Given the description of an element on the screen output the (x, y) to click on. 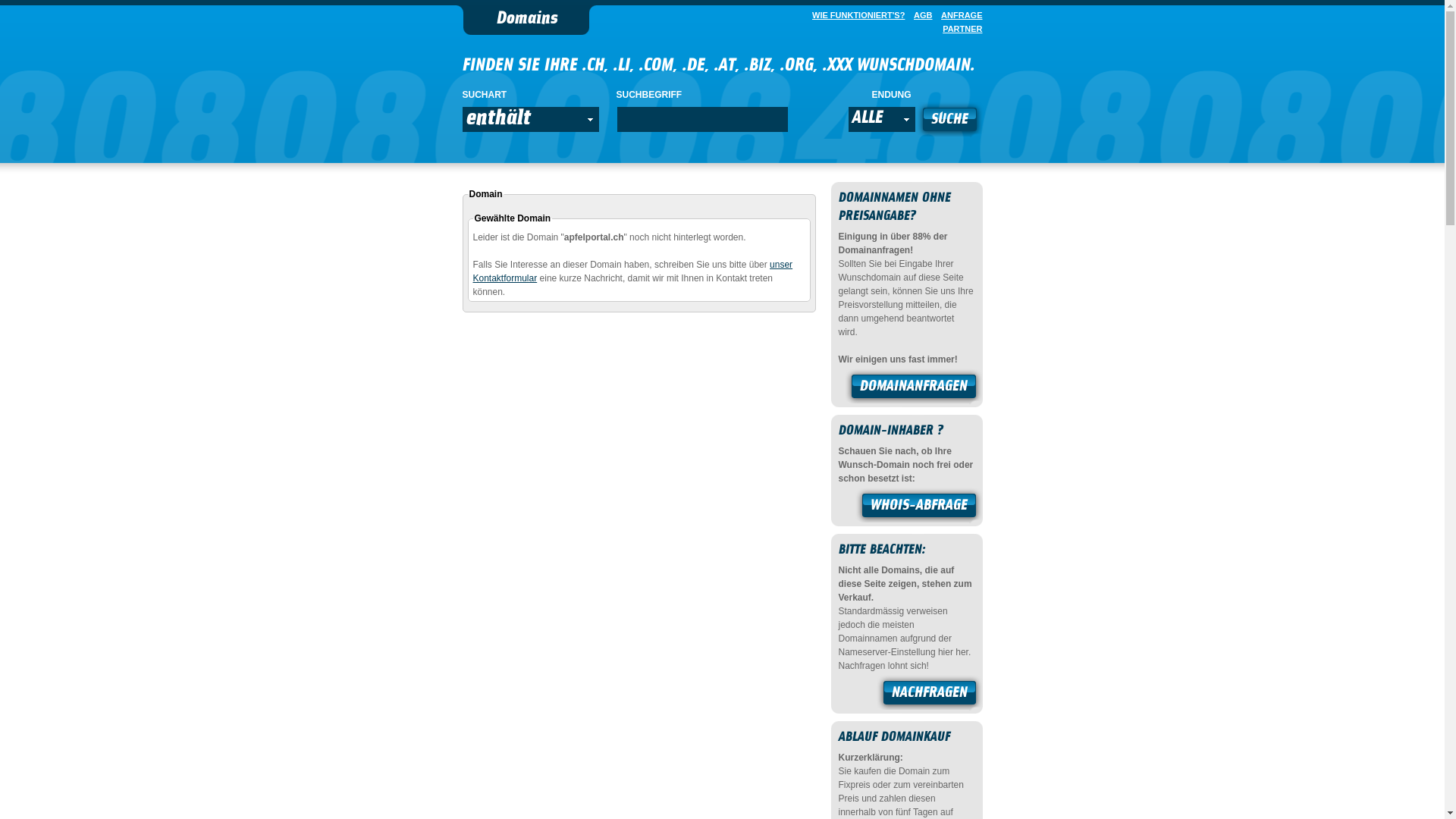
unser Kontaktformular Element type: text (633, 271)
WHOIS-ABFRAGE Element type: text (918, 507)
NACHFRAGEN Element type: text (929, 694)
SUCHE Element type: text (949, 121)
WIE FUNKTIONIERT'S? Element type: text (855, 14)
Domains Element type: text (526, 19)
PARTNER Element type: text (959, 28)
DOMAINANFRAGEN Element type: text (913, 387)
ANFRAGE Element type: text (958, 14)
AGB Element type: text (919, 14)
